Given the description of an element on the screen output the (x, y) to click on. 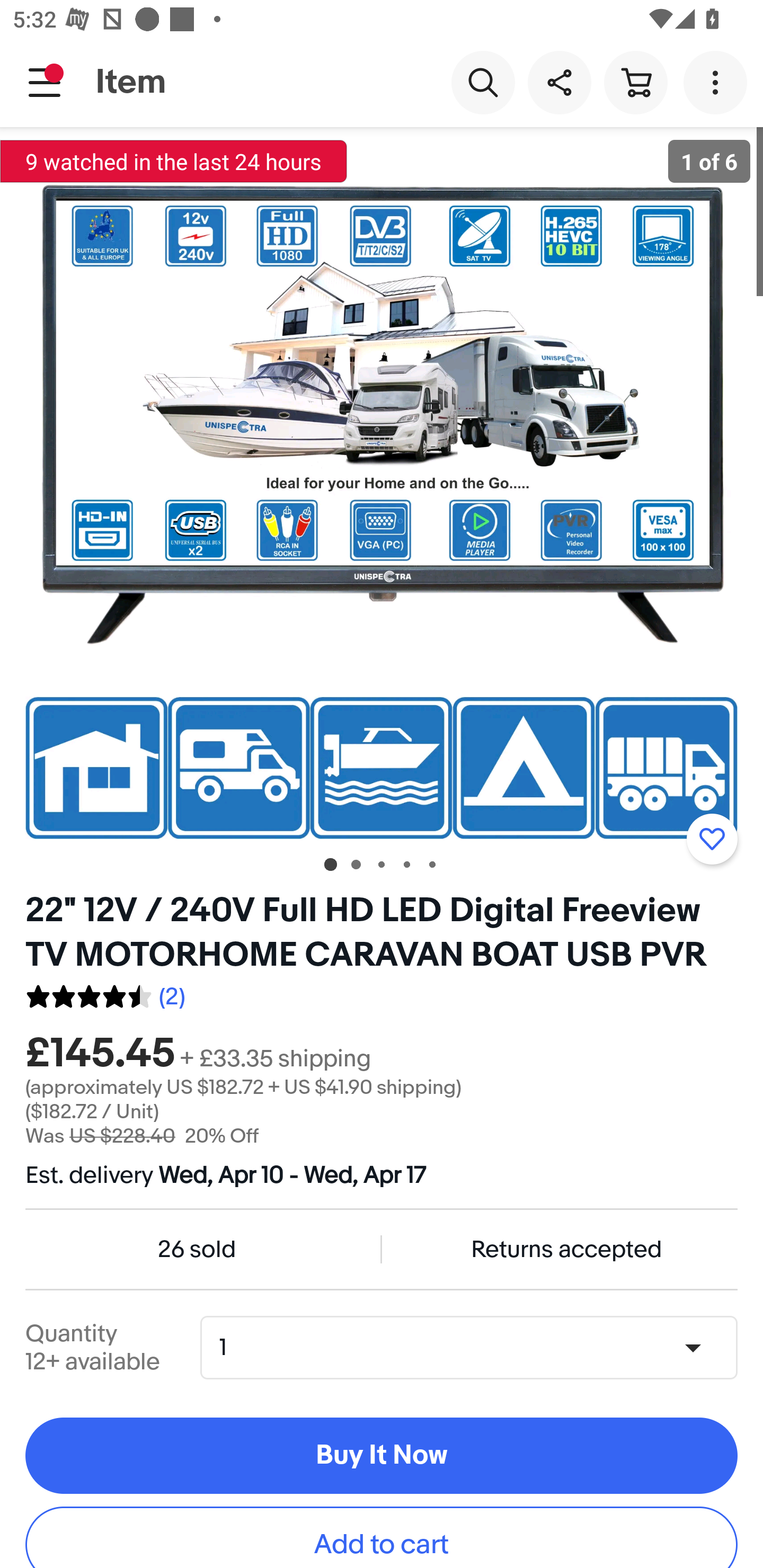
Main navigation, notification is pending, open (44, 82)
Search (482, 81)
Share this item (559, 81)
Cart button shopping cart (635, 81)
More options (718, 81)
Item image 1 of 6 (381, 482)
9 watched in the last 24 hours (173, 161)
Add to watchlist (711, 838)
2 reviews. Average rating 4.5 out of five 9.0 (2) (104, 993)
Quantity,1,12+ available 1 (474, 1347)
Buy It Now (381, 1455)
Add to cart (381, 1537)
